Given the description of an element on the screen output the (x, y) to click on. 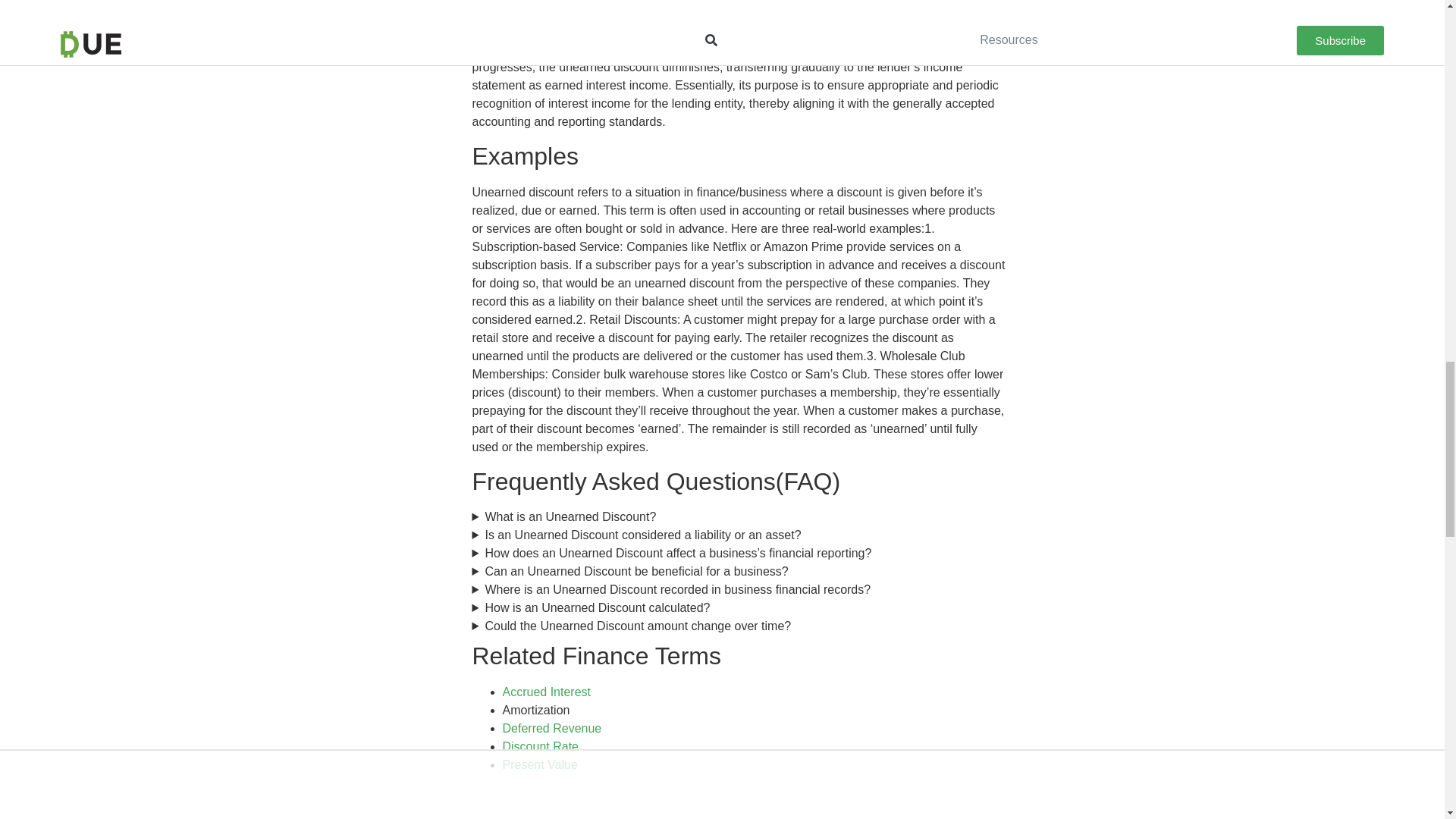
Present Value (539, 764)
Accrued Interest (546, 691)
Deferred Revenue (551, 727)
Discount Rate (540, 746)
